Given the description of an element on the screen output the (x, y) to click on. 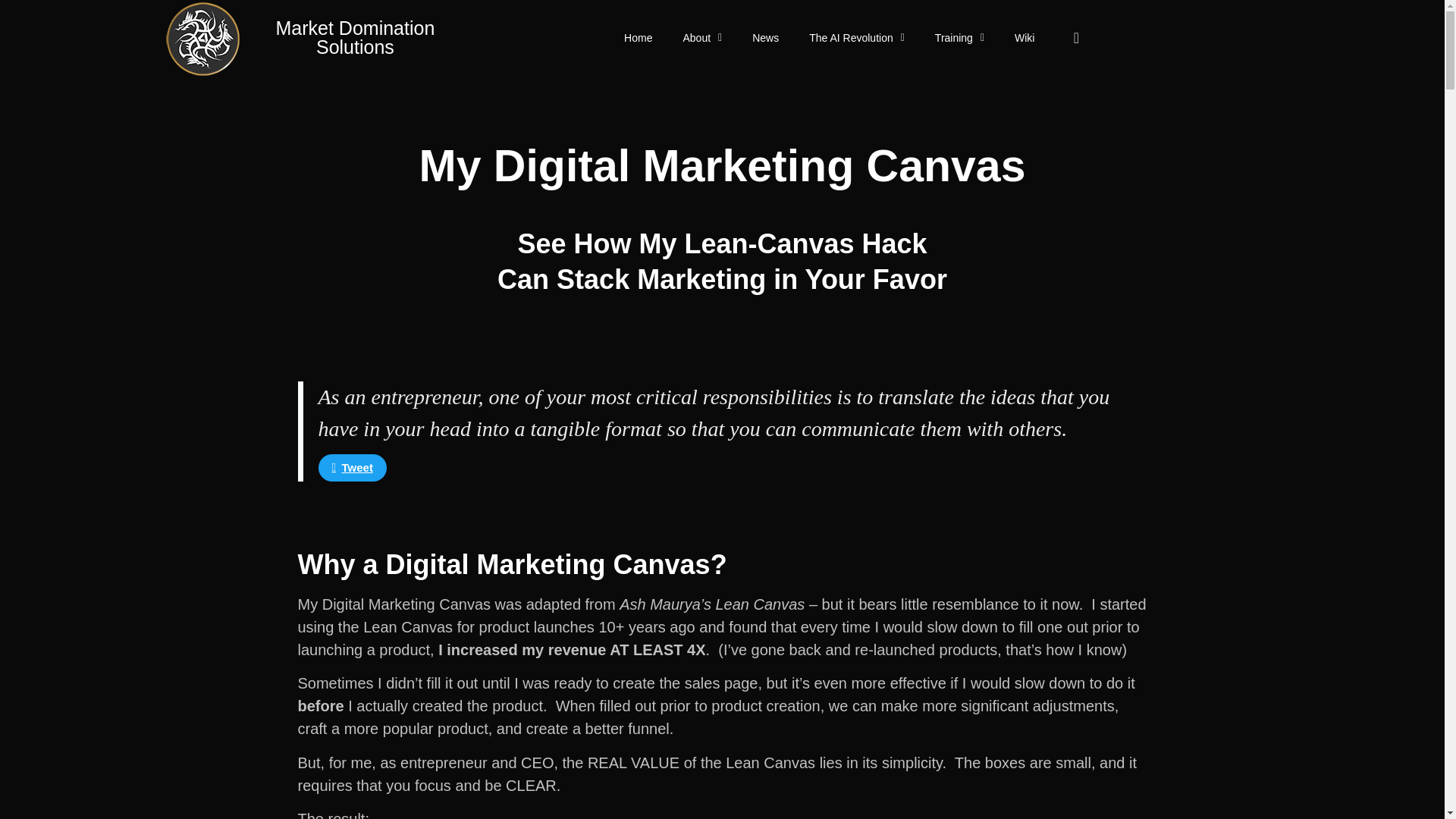
Wiki (1023, 37)
About (701, 37)
News (764, 37)
Home (637, 37)
Training (959, 37)
The AI Revolution (856, 37)
